Given the description of an element on the screen output the (x, y) to click on. 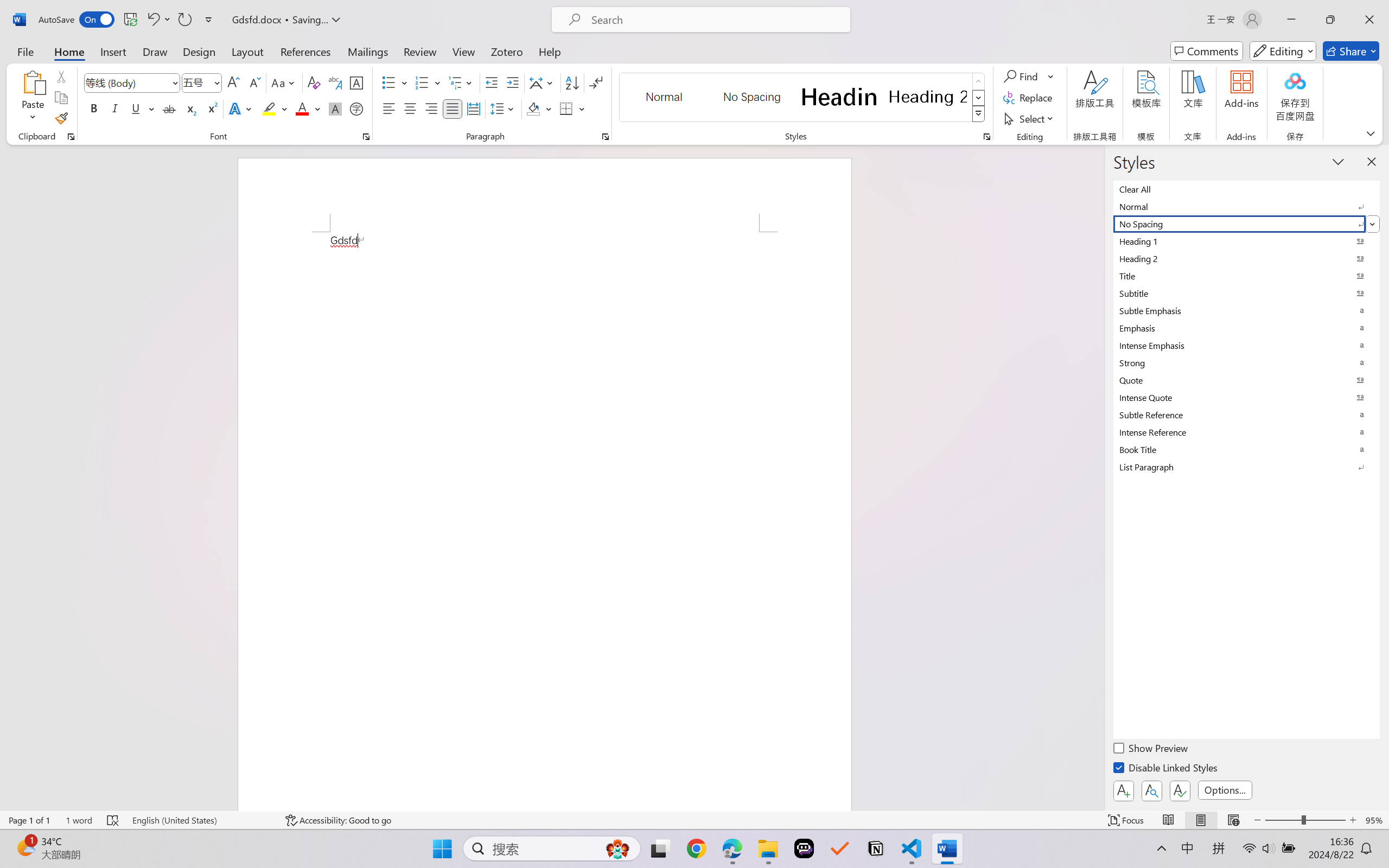
Font Color (308, 108)
Class: NetUIButton (1179, 790)
Quote (1246, 379)
Superscript (210, 108)
Undo Style (152, 19)
Show/Hide Editing Marks (595, 82)
Align Left (388, 108)
Heading 1 (839, 96)
Task Pane Options (1338, 161)
Subtitle (1246, 293)
